Given the description of an element on the screen output the (x, y) to click on. 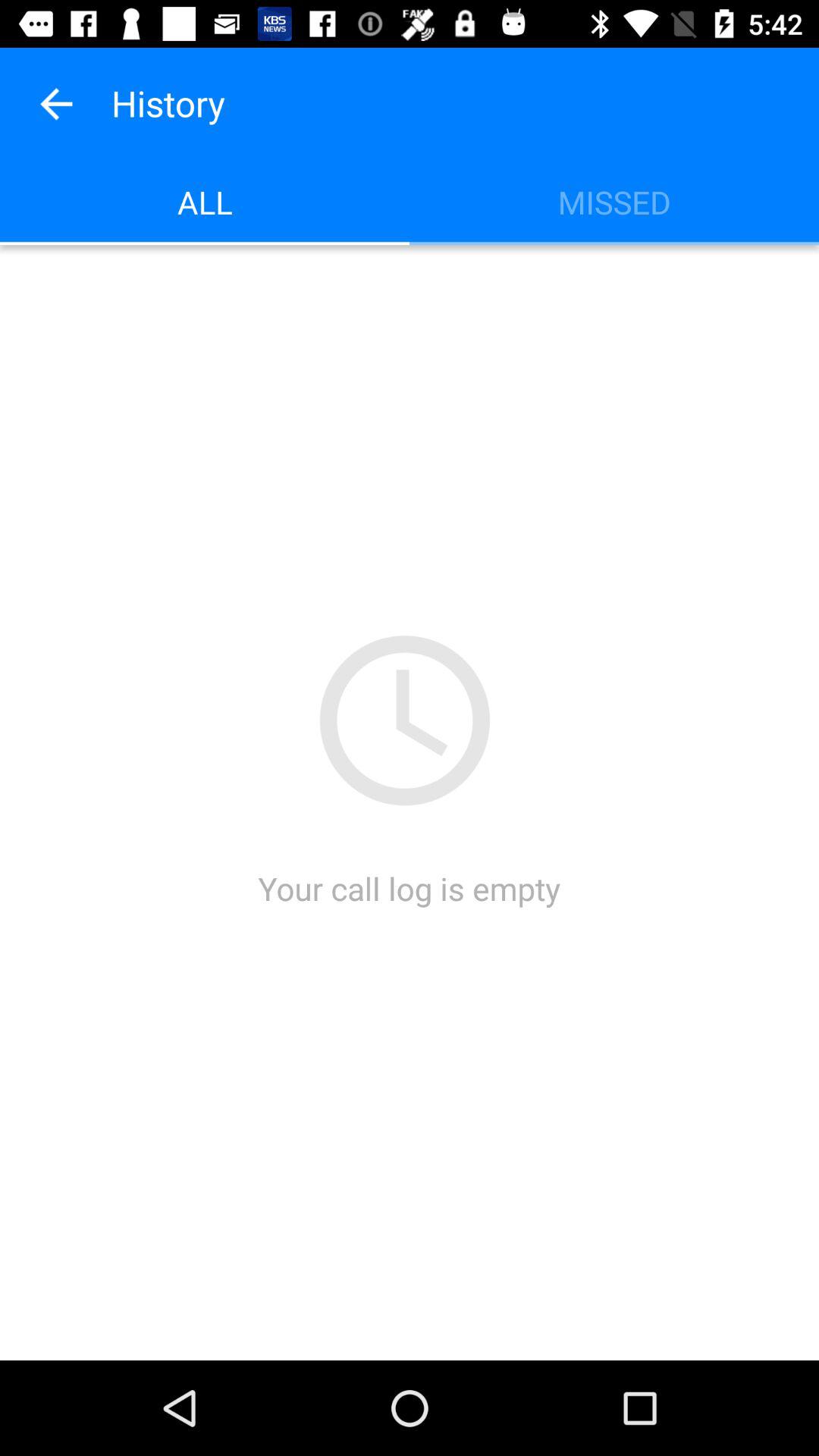
open icon next to the history item (55, 103)
